Given the description of an element on the screen output the (x, y) to click on. 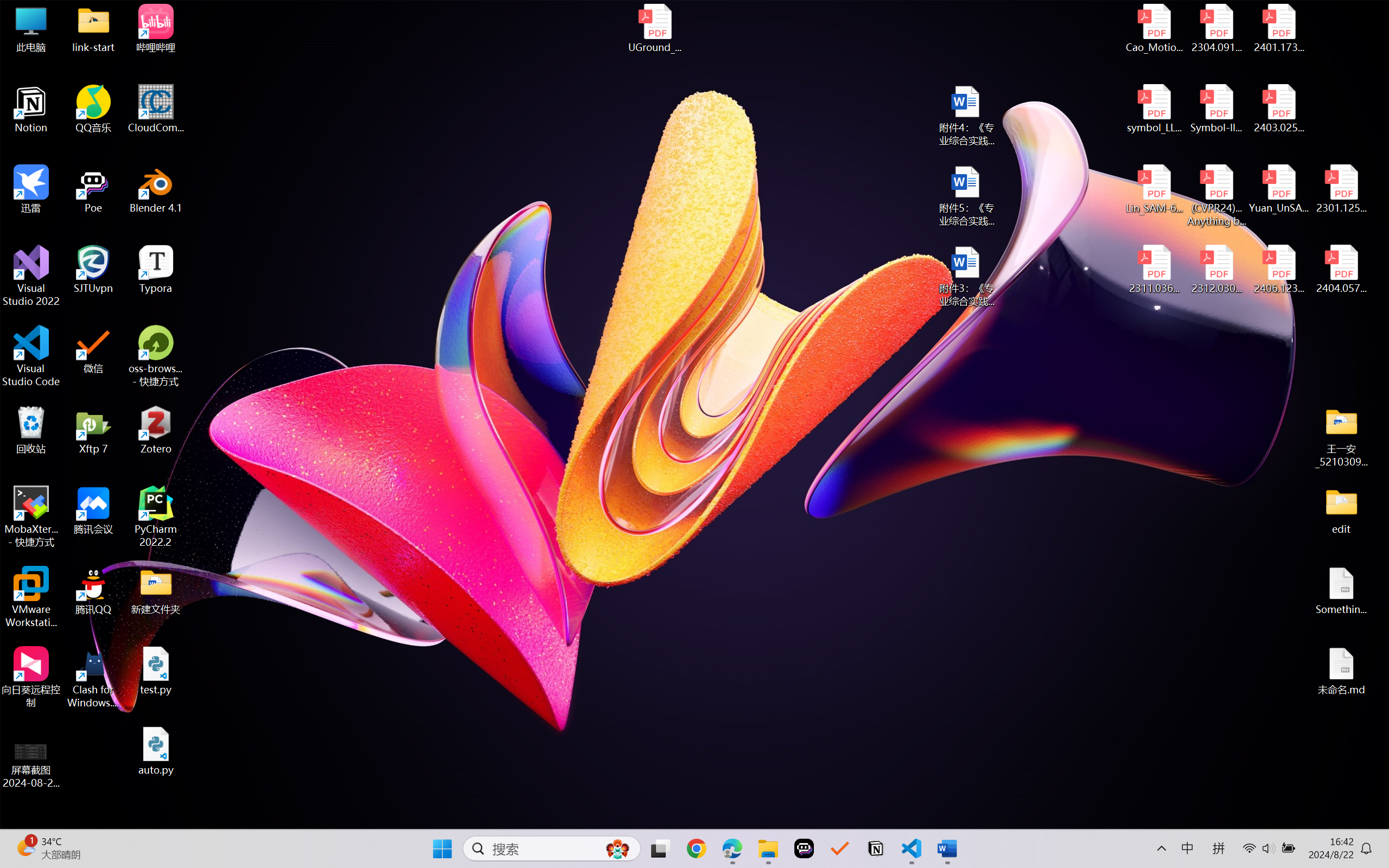
2311.03658v2.pdf (1154, 269)
2403.02502v1.pdf (1278, 109)
test.py (156, 670)
Blender 4.1 (156, 189)
UGround_paper.pdf (654, 28)
symbol_LLM.pdf (1154, 109)
